Given the description of an element on the screen output the (x, y) to click on. 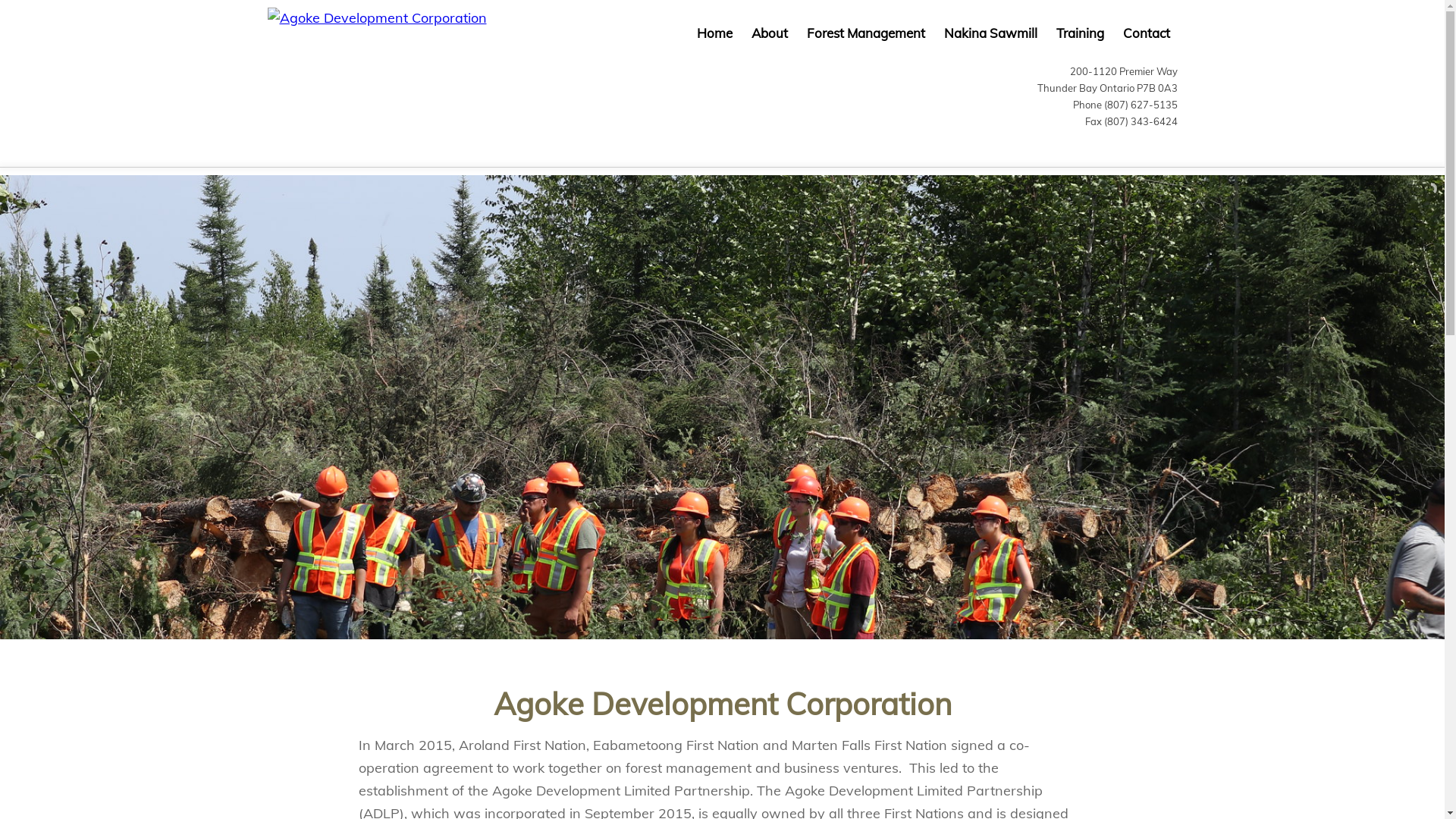
Nakina Sawmill Element type: text (989, 32)
Home Element type: text (713, 32)
About Element type: text (768, 32)
Forest Management Element type: text (865, 32)
Training Element type: text (1079, 32)
Contact Element type: text (1145, 32)
